Given the description of an element on the screen output the (x, y) to click on. 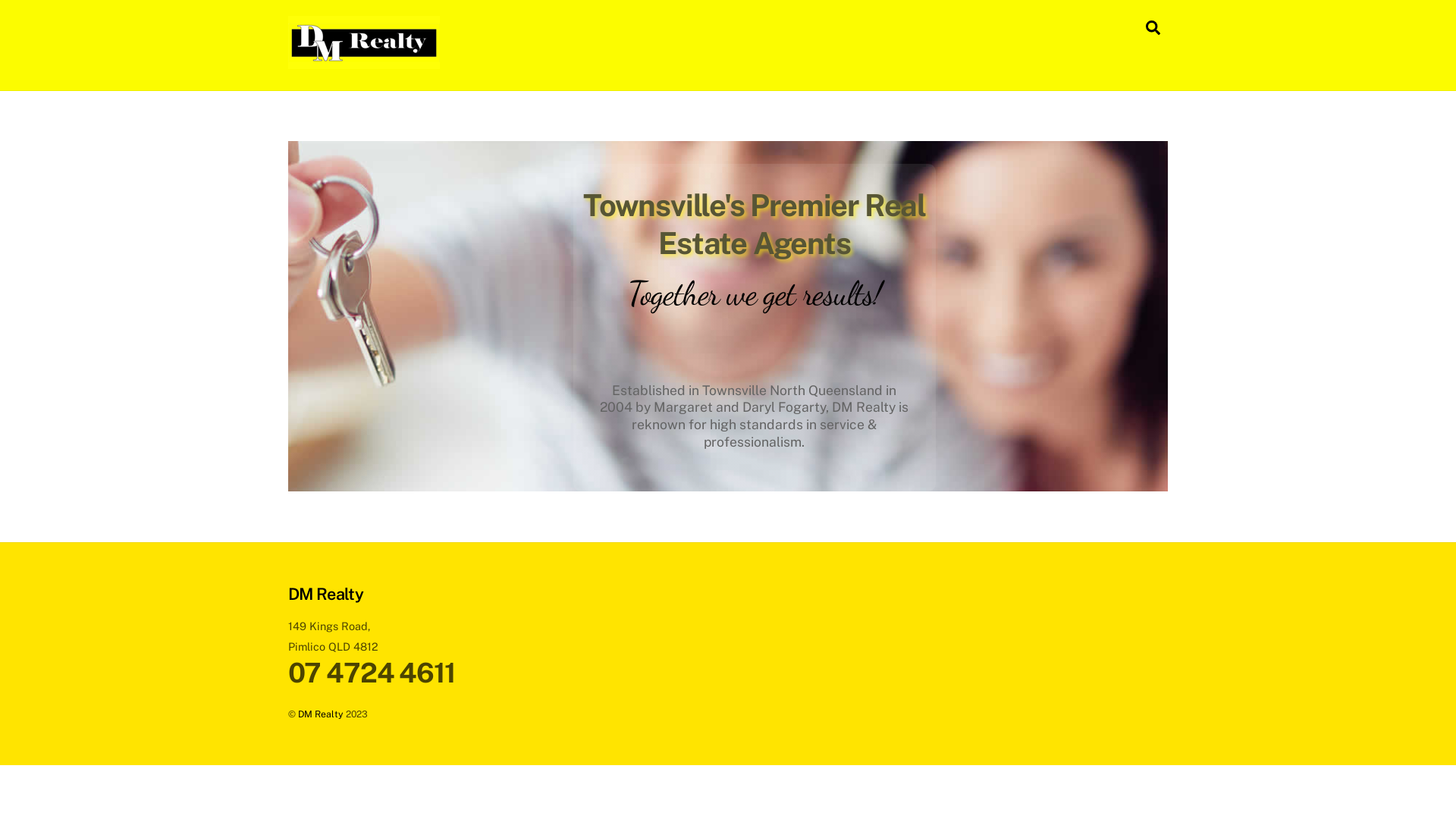
logo_24587 Element type: hover (363, 42)
DM Realty Element type: text (320, 713)
DM Realty Element type: text (325, 593)
Search Element type: text (1152, 26)
DM Realty Element type: hover (363, 61)
